Given the description of an element on the screen output the (x, y) to click on. 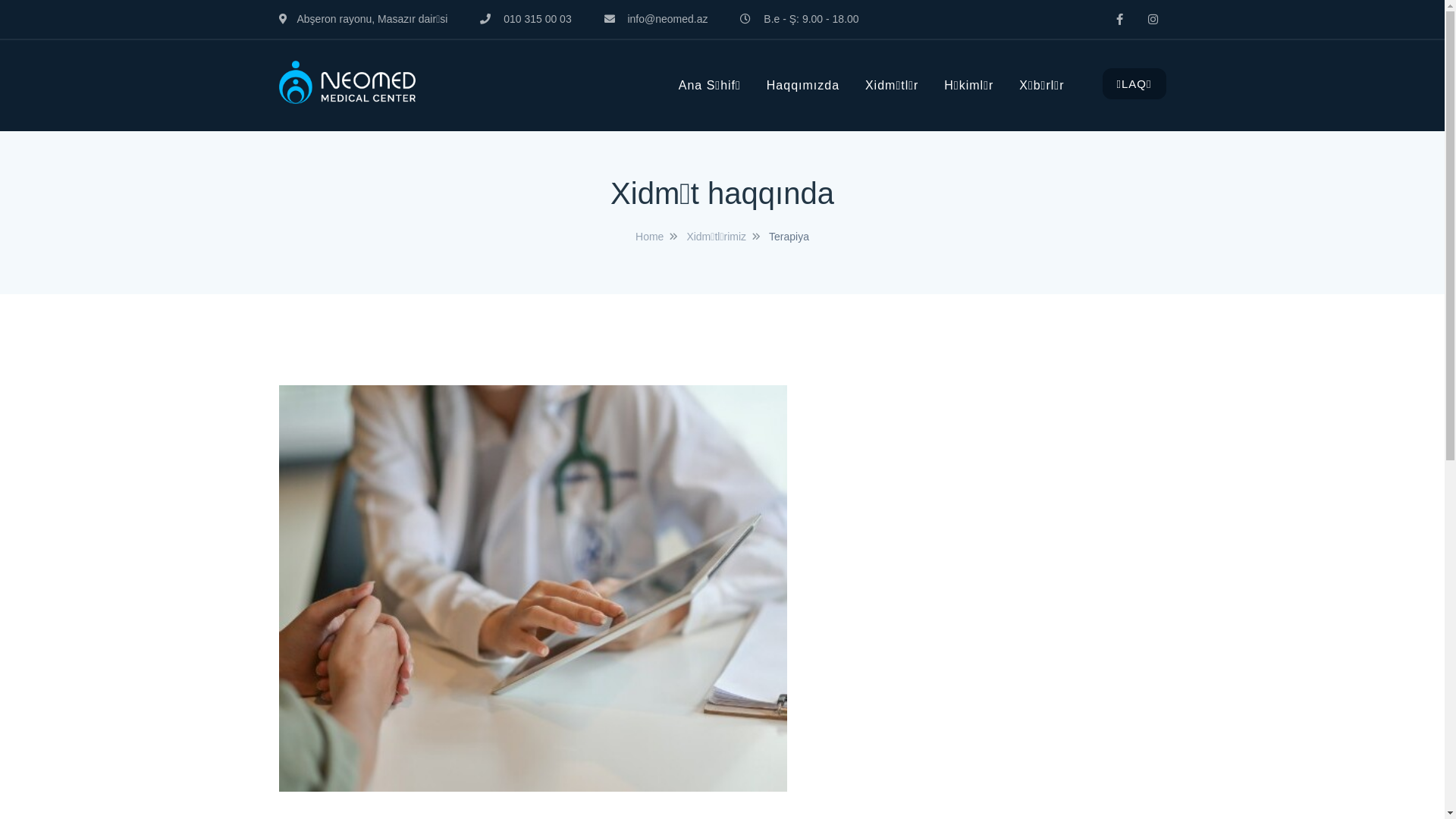
Home Element type: text (649, 236)
